Given the description of an element on the screen output the (x, y) to click on. 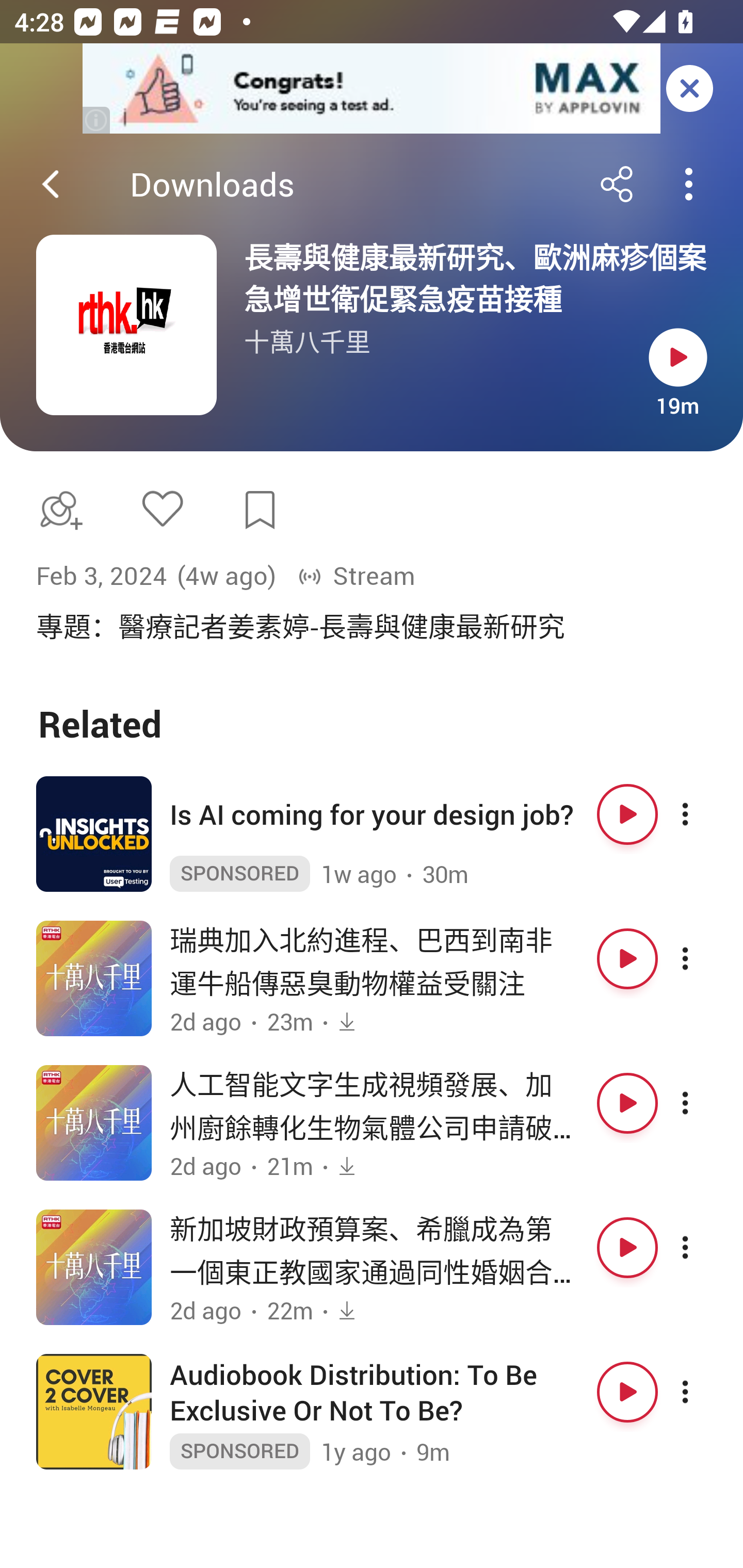
app-monetization (371, 88)
(i) (96, 119)
Back (50, 184)
Open series (126, 325)
Play button (677, 357)
Like (161, 507)
Add episode to Play Later (57, 509)
New bookmark … (259, 510)
Stream (356, 576)
Play button (627, 814)
More options (703, 814)
Play button (627, 958)
More options (703, 958)
Play button (627, 1103)
More options (703, 1103)
Play button (627, 1247)
More options (703, 1247)
Play button (627, 1391)
More options (703, 1391)
